Given the description of an element on the screen output the (x, y) to click on. 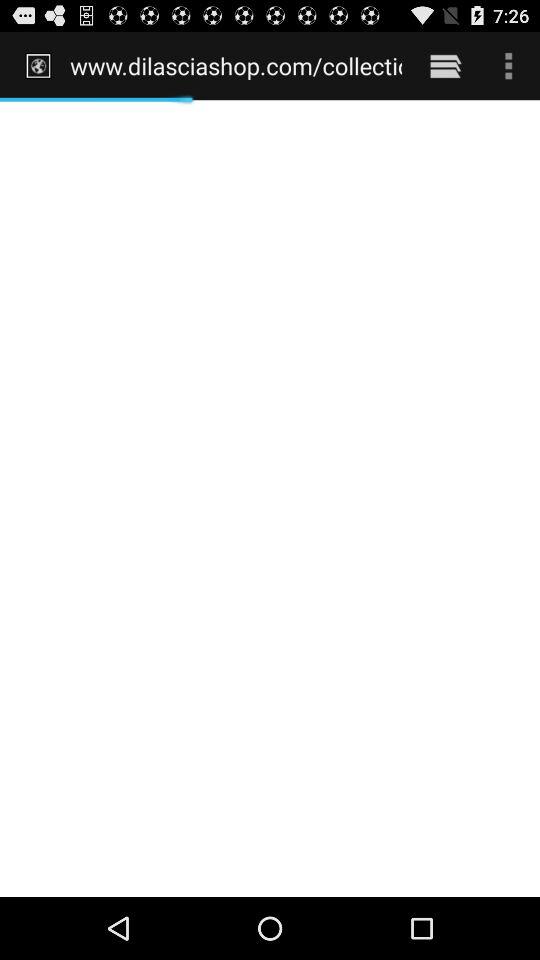
press the icon at the center (270, 497)
